Given the description of an element on the screen output the (x, y) to click on. 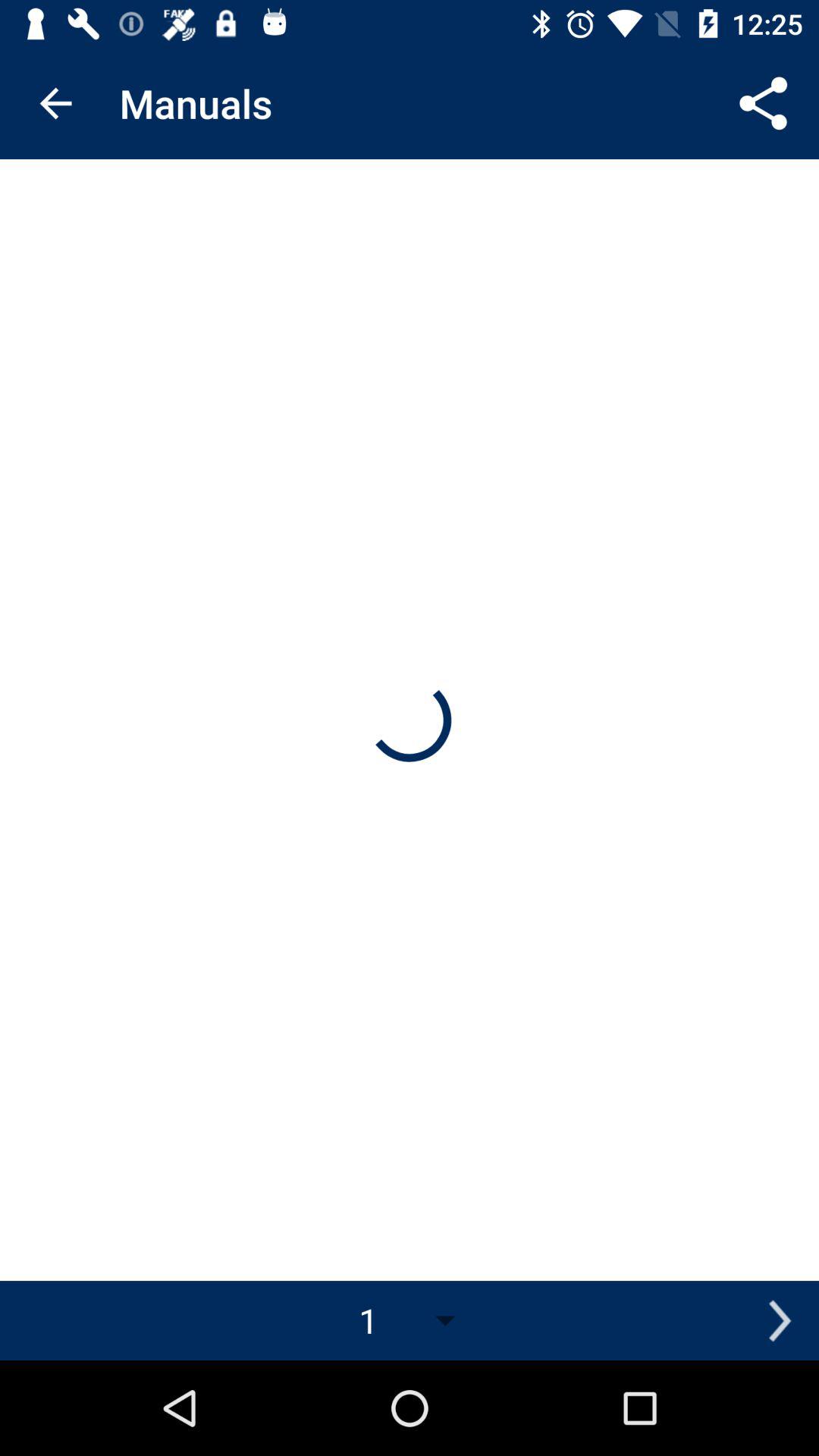
select app to the left of manuals app (55, 103)
